Given the description of an element on the screen output the (x, y) to click on. 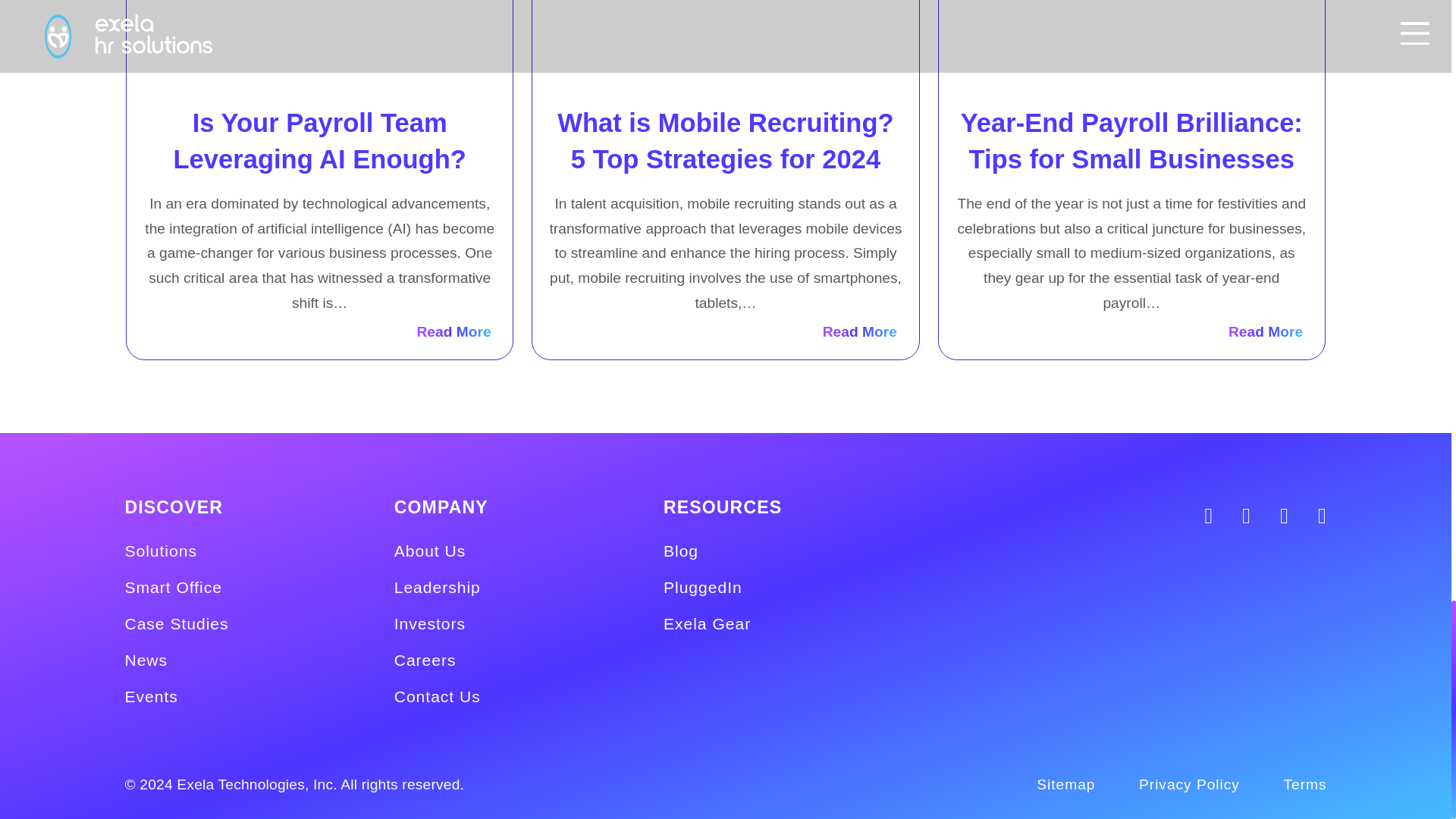
Leadership (437, 587)
Solutions (159, 550)
Linkedin (1231, 515)
Exela Gear (707, 623)
Contact Us (437, 696)
PluggedIn (702, 587)
Case Studies (175, 623)
News (145, 660)
Read More (859, 331)
Instagram (1193, 515)
